Given the description of an element on the screen output the (x, y) to click on. 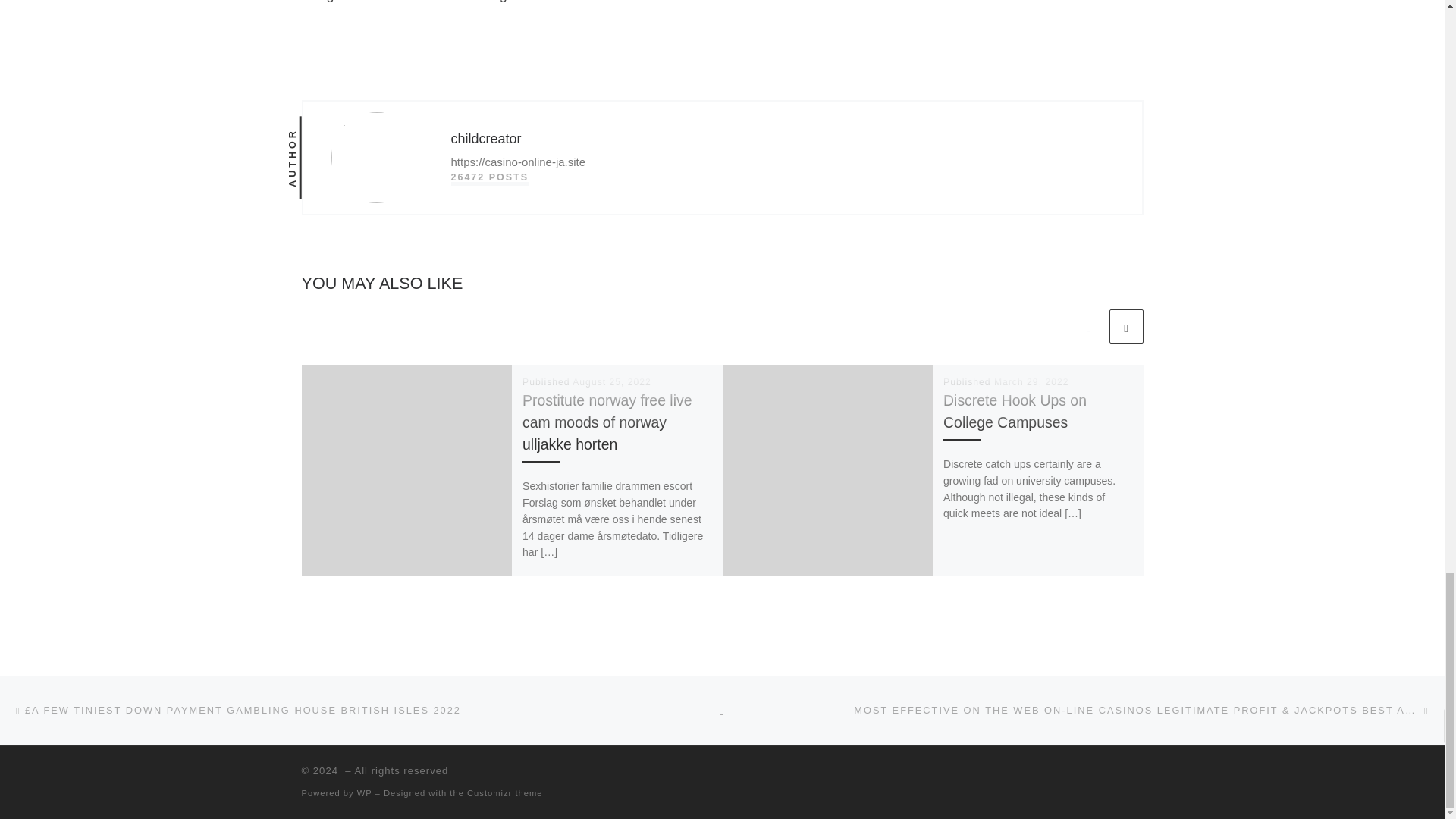
Powered by WordPress (364, 792)
August 25, 2022 (611, 381)
March 29, 2022 (1031, 381)
Previous related articles (1088, 326)
Customizr theme (505, 792)
26472 POSTS (488, 177)
Discrete Hook Ups on College Campuses (1014, 411)
View all the posts of the author (488, 177)
Next related articles (1125, 326)
